Given the description of an element on the screen output the (x, y) to click on. 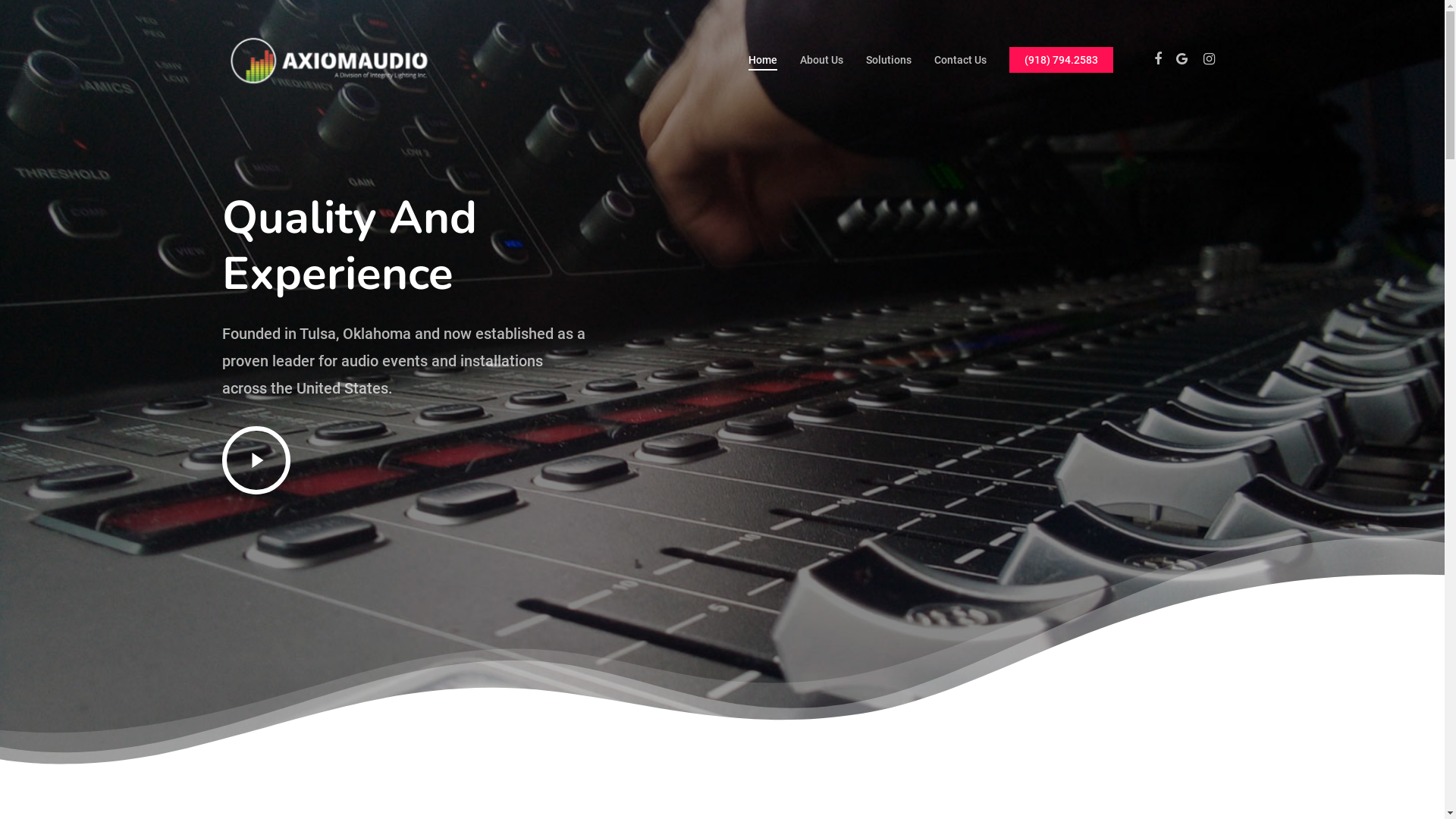
facebook Element type: text (669, 709)
Instagram Element type: text (1208, 59)
Home Element type: text (761, 59)
(918) 794.2583 Element type: text (1060, 59)
Contact Us Element type: text (960, 59)
Google-Plus Element type: text (1181, 59)
Facebook Element type: text (1156, 59)
google-plus Element type: text (722, 709)
instagram Element type: text (775, 709)
About Us Element type: text (820, 59)
Play Video Element type: text (256, 460)
Solutions Element type: text (888, 59)
